Given the description of an element on the screen output the (x, y) to click on. 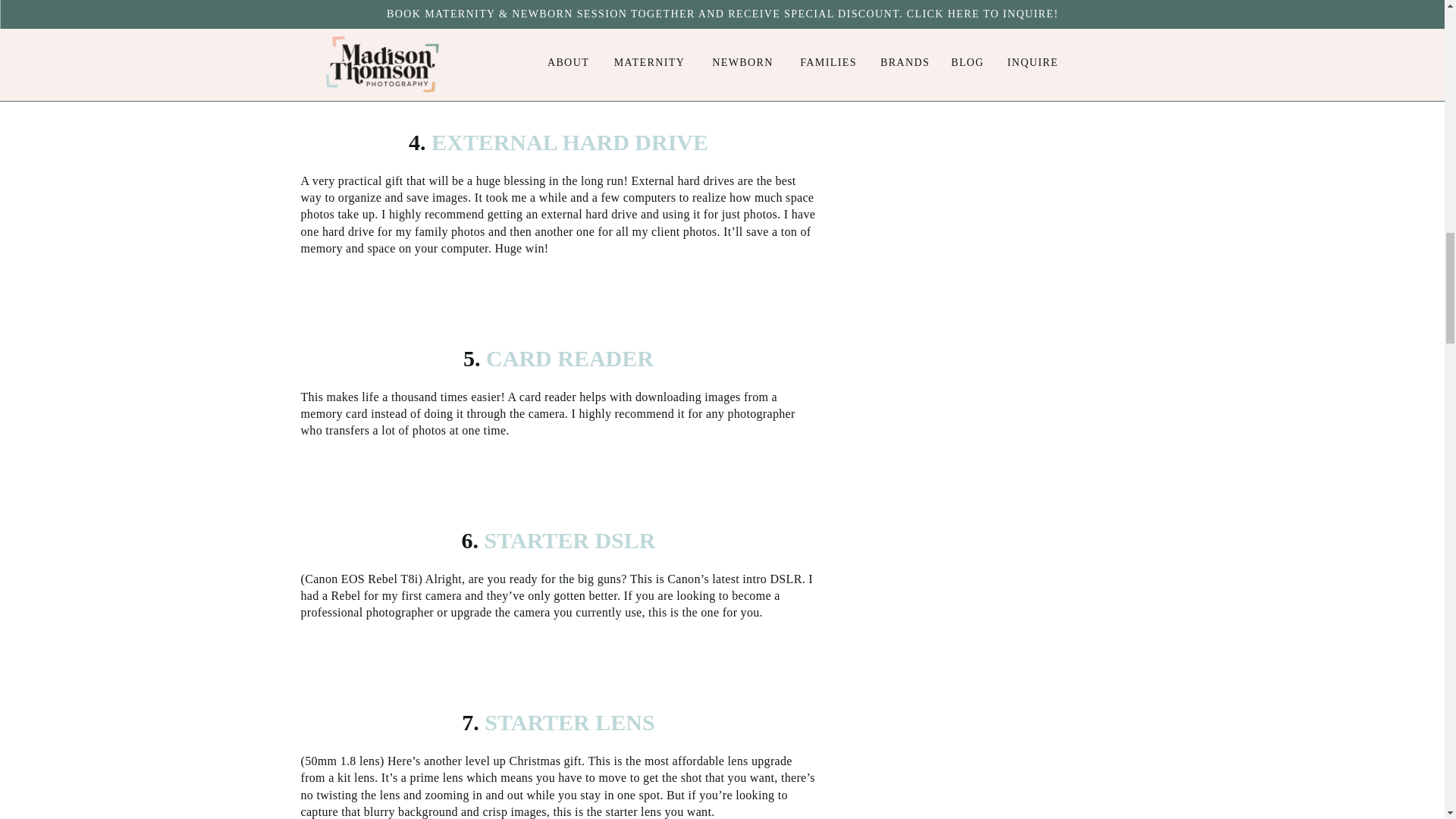
EXTERNAL HARD DRIVE (566, 141)
CARD READER (566, 358)
STARTER LENS (567, 722)
STARTER DSLR (567, 539)
